Given the description of an element on the screen output the (x, y) to click on. 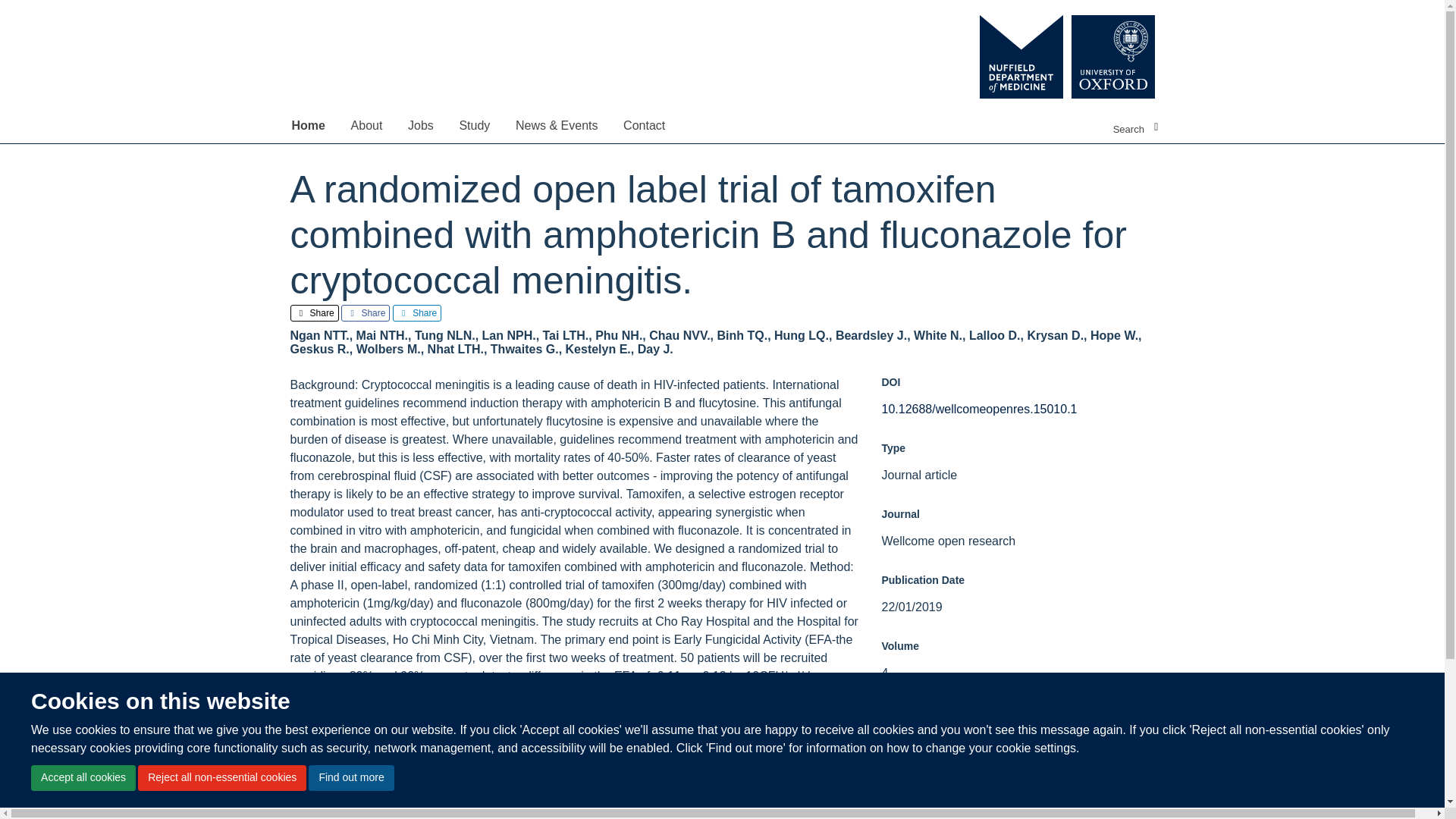
Find out more (350, 777)
Reject all non-essential cookies (221, 777)
Accept all cookies (82, 777)
